Given the description of an element on the screen output the (x, y) to click on. 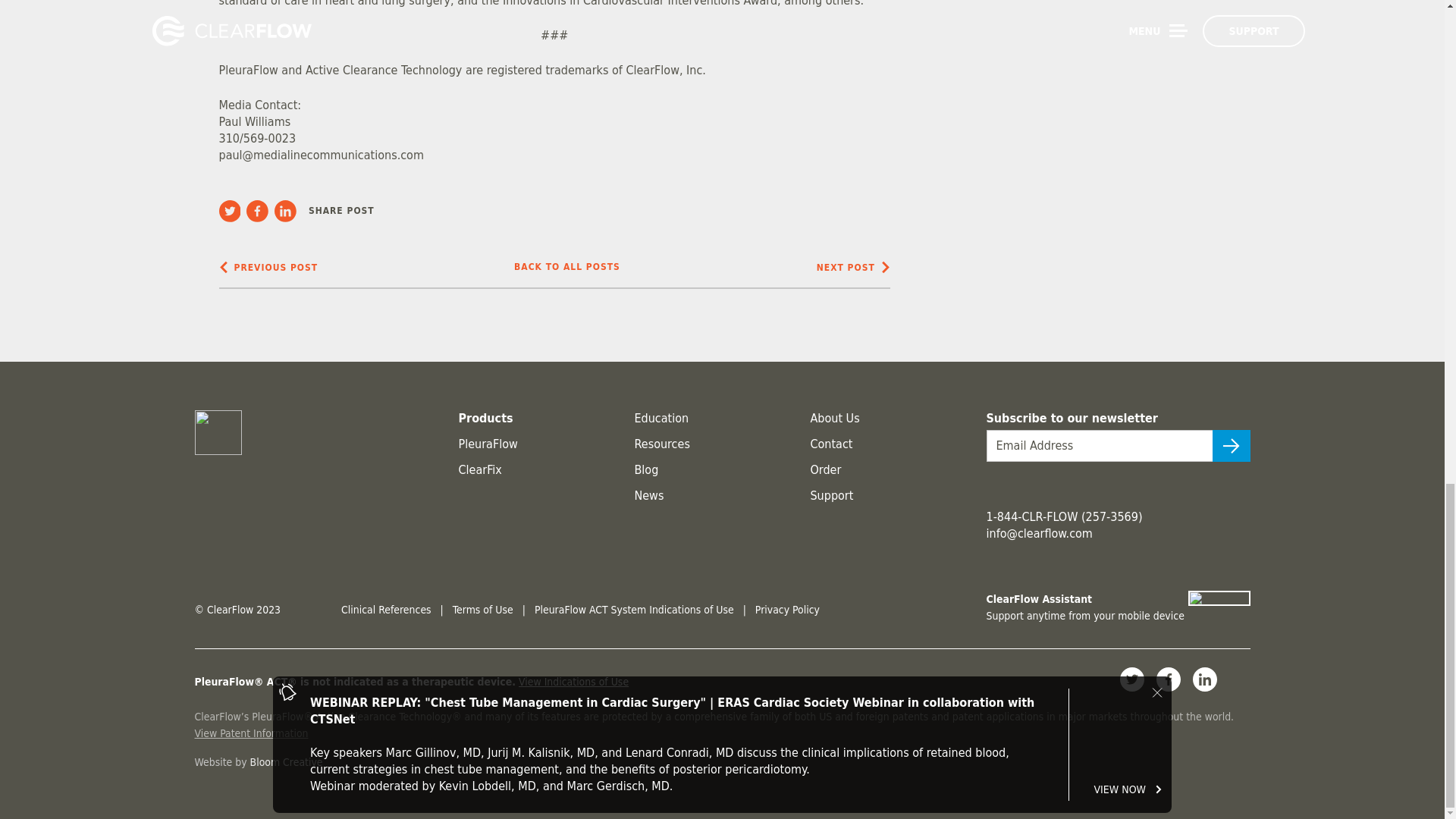
Twitter (232, 210)
Facebook (260, 210)
BACK TO ALL POSTS (566, 266)
PREVIOUS POST (267, 266)
Link to LinkedIn (1204, 679)
LinkedIn (288, 210)
NEXT POST (852, 266)
Link to Twitter (1131, 679)
Link to Facebook (1168, 679)
